Given the description of an element on the screen output the (x, y) to click on. 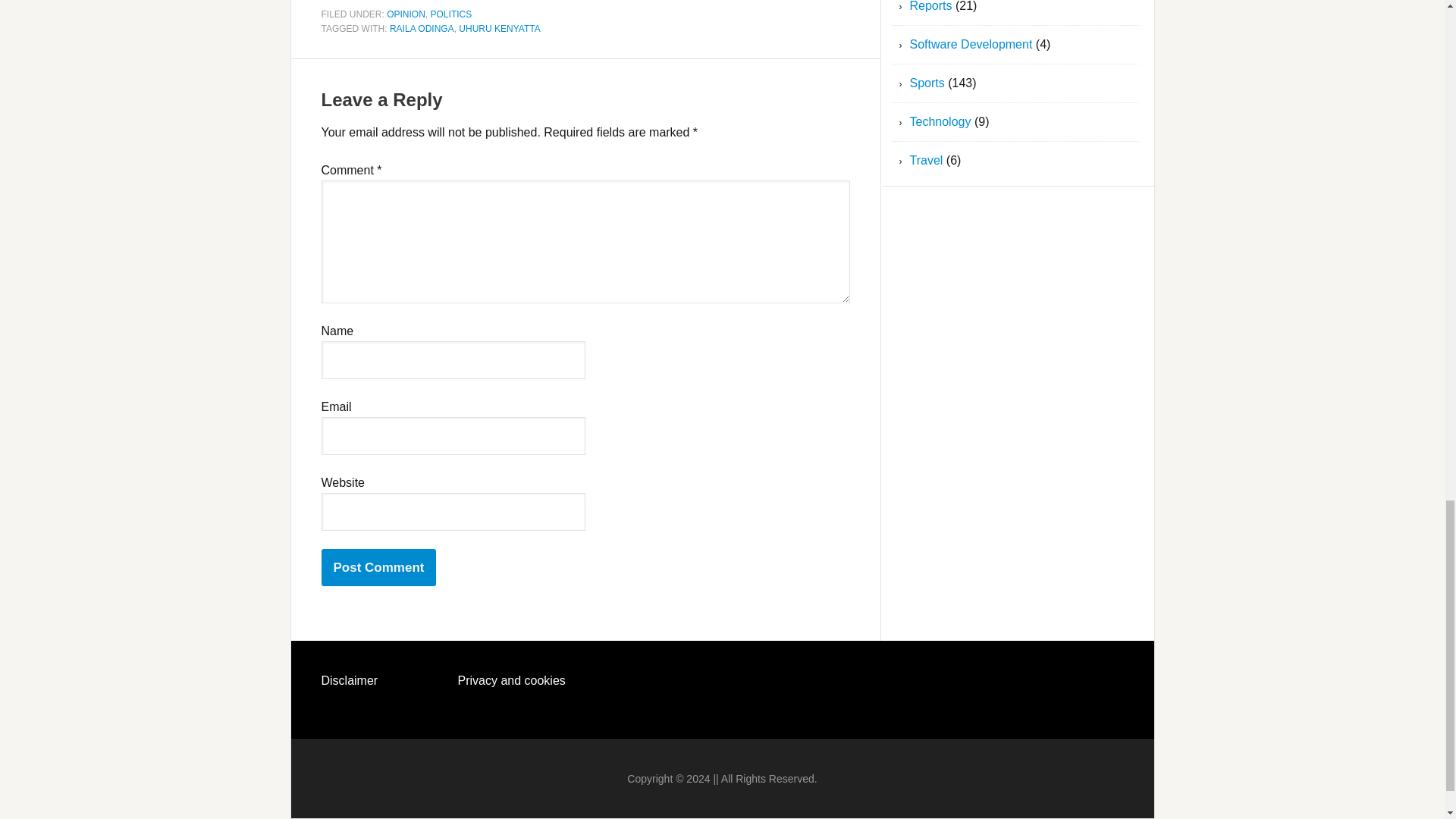
Post Comment (378, 567)
OPINION (406, 14)
Post Comment (378, 567)
POLITICS (450, 14)
RAILA ODINGA (422, 28)
UHURU KENYATTA (499, 28)
